Given the description of an element on the screen output the (x, y) to click on. 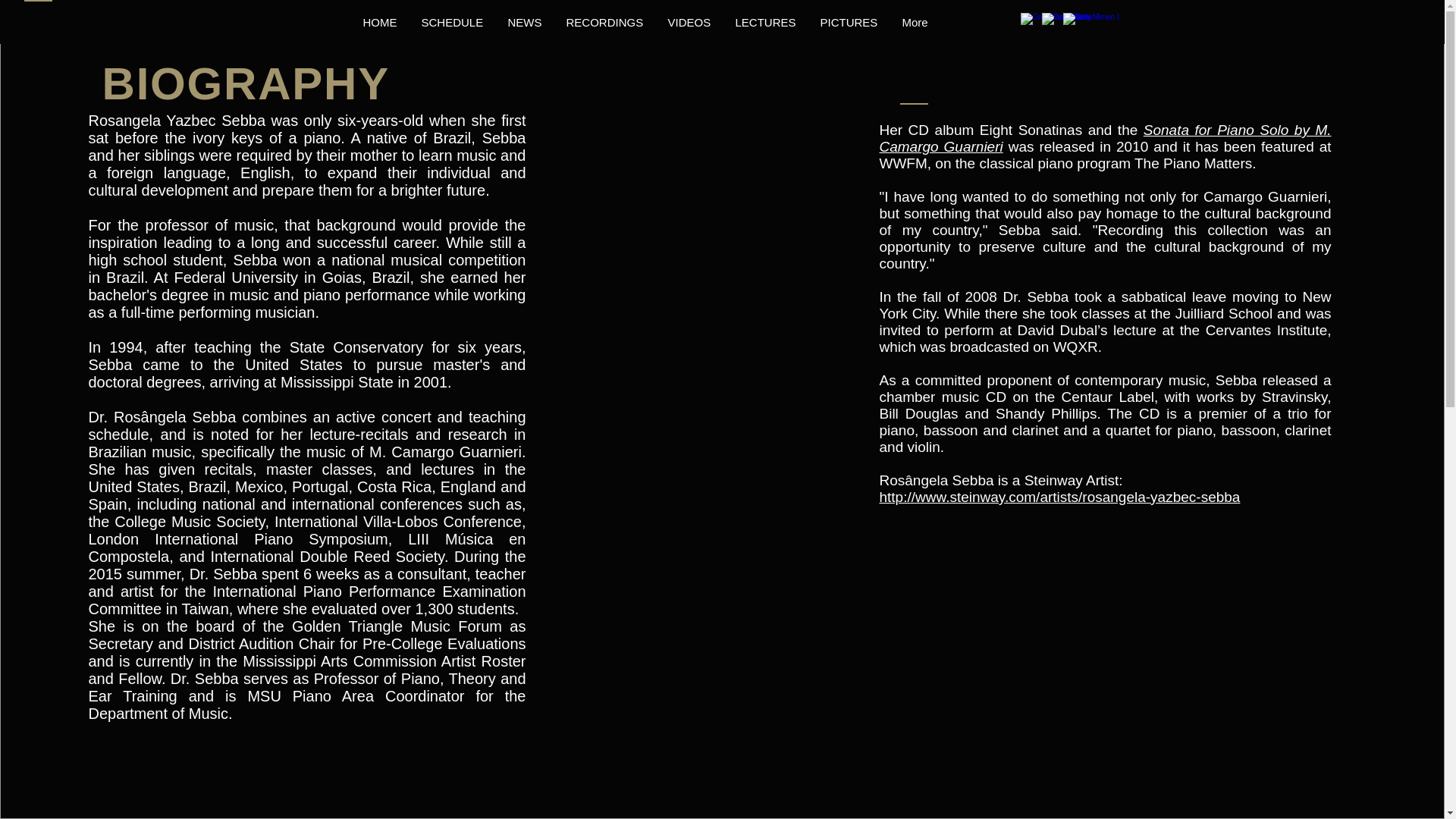
RECORDINGS (604, 22)
Sonata for Piano Solo by M. Camargo Guarnieri (1105, 138)
HOME (379, 22)
PICTURES (848, 22)
NEWS (525, 22)
SCHEDULE (452, 22)
VIDEOS (688, 22)
LECTURES (765, 22)
